Given the description of an element on the screen output the (x, y) to click on. 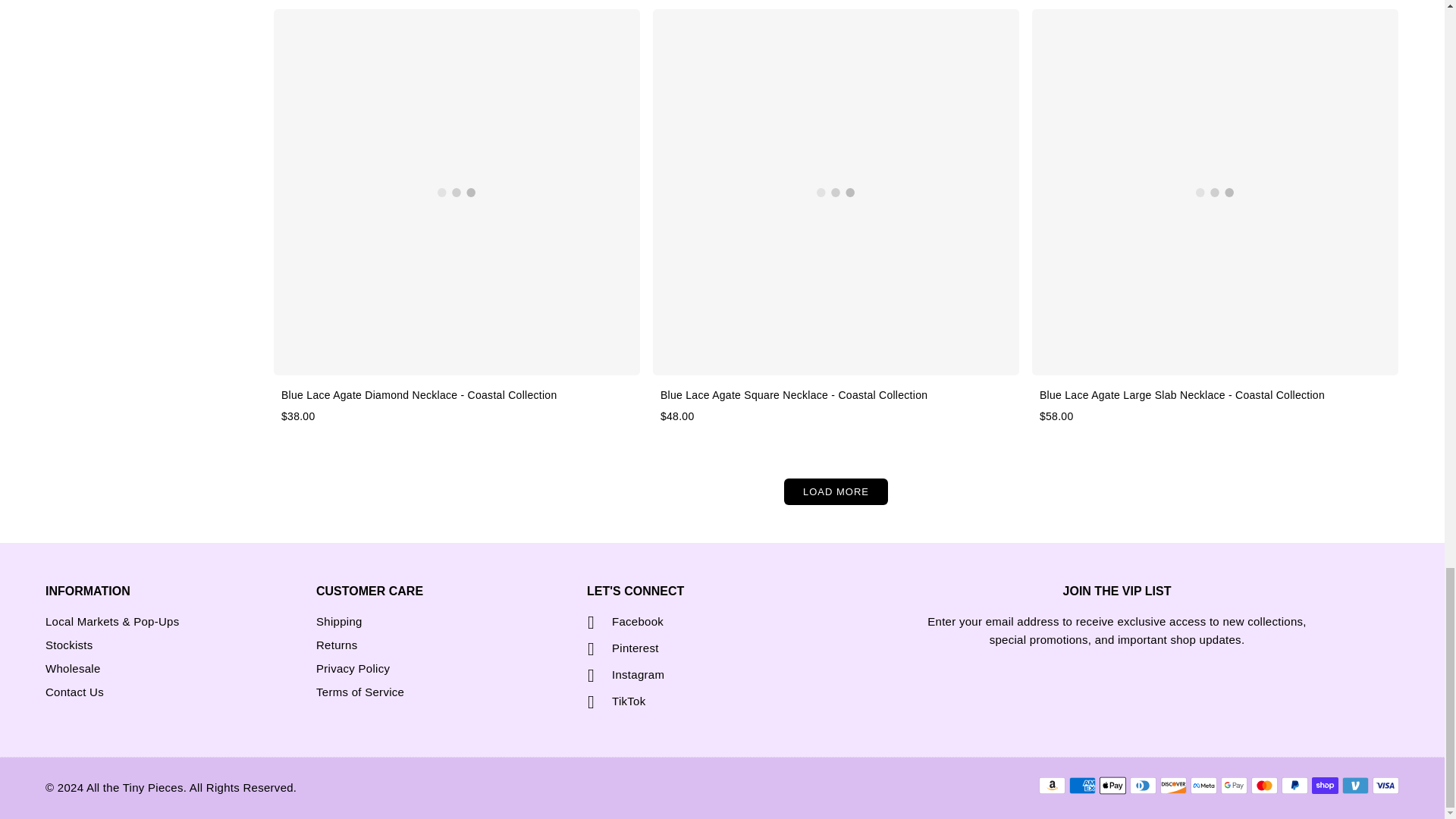
Amazon (1052, 785)
Visa (1386, 785)
Mastercard (1264, 785)
Discover (1173, 785)
Meta Pay (1204, 785)
Diners Club (1142, 785)
PayPal (1294, 785)
Shop Pay (1324, 785)
Venmo (1355, 785)
Apple Pay (1112, 785)
